Given the description of an element on the screen output the (x, y) to click on. 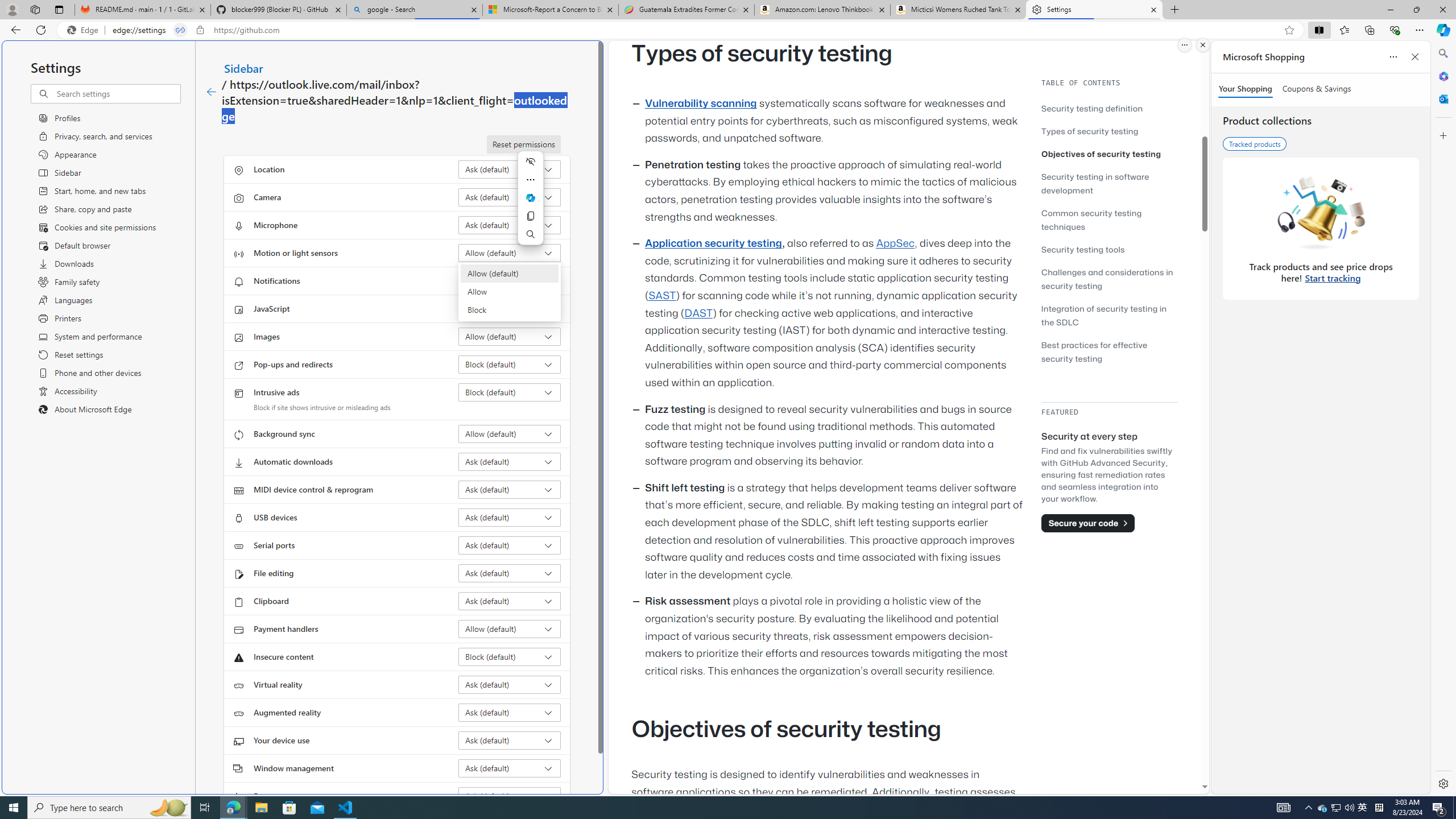
SAST (661, 295)
